Given the description of an element on the screen output the (x, y) to click on. 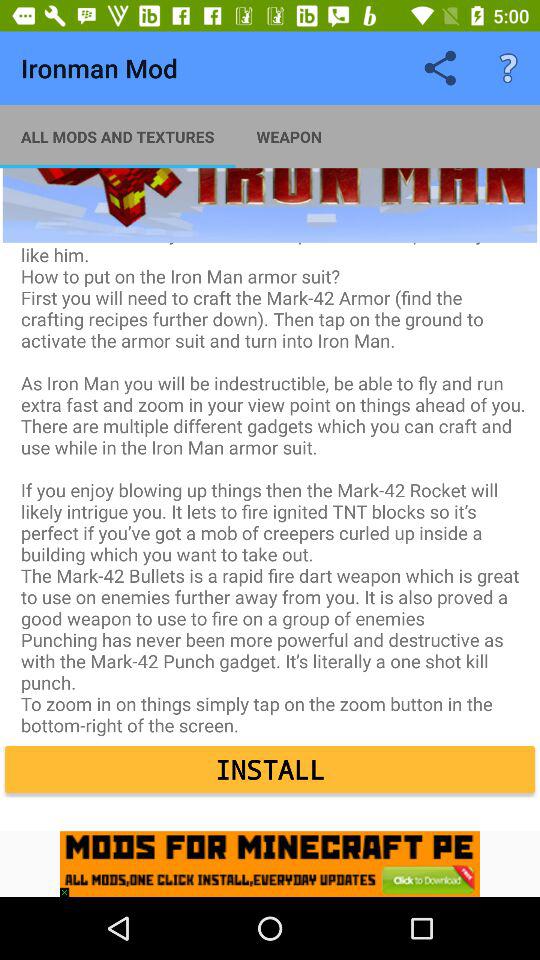
open the app below ironman mod icon (117, 136)
